Given the description of an element on the screen output the (x, y) to click on. 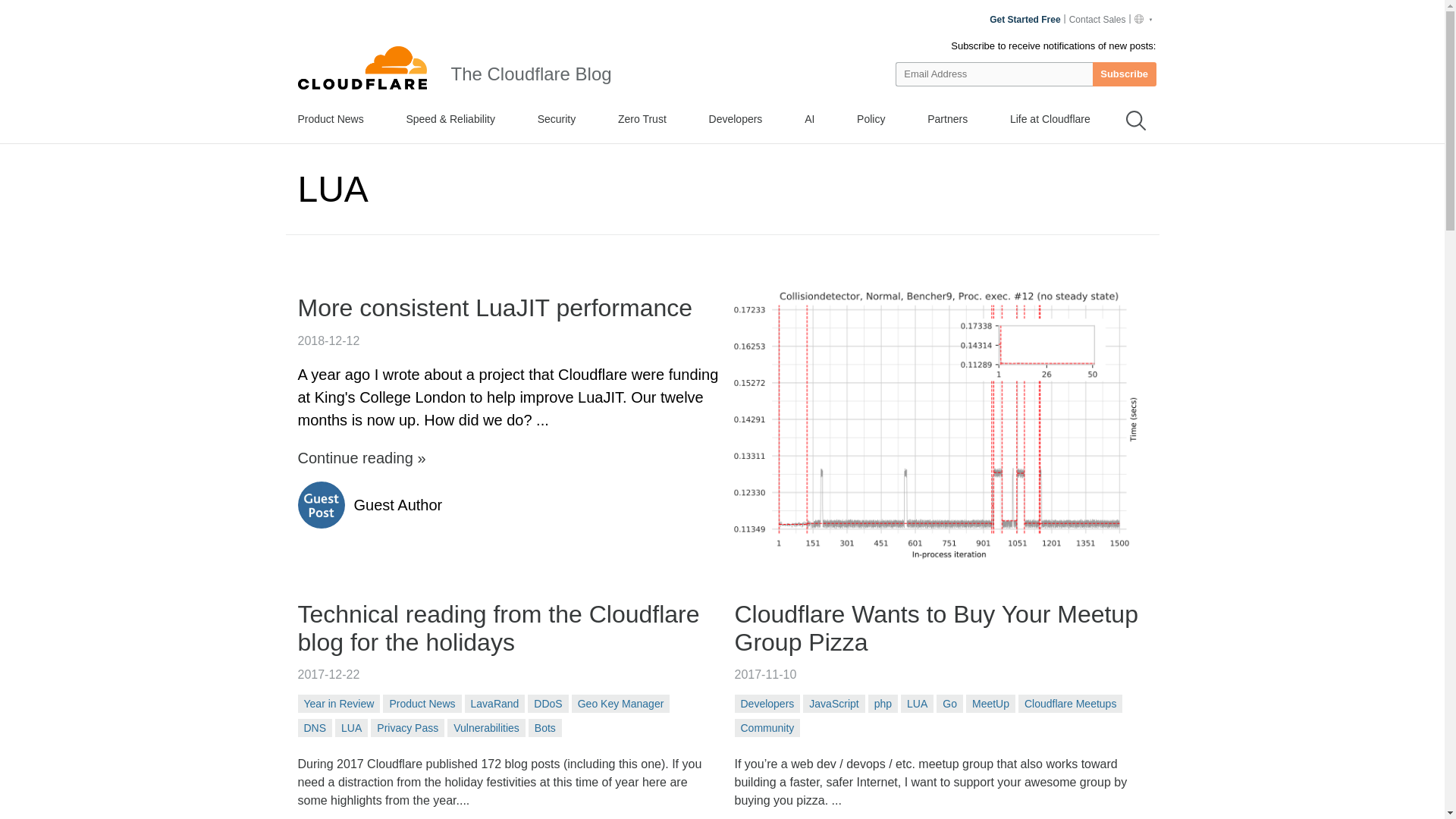
DDoS (547, 703)
Zero Trust (641, 118)
LavaRand (494, 703)
The Cloudflare Blog (530, 73)
Year in Review (338, 703)
Security (556, 118)
Developers (735, 118)
Partners (947, 118)
Get Started Free (1024, 19)
Contact Sales (1098, 19)
Subscribe (1124, 74)
More consistent LuaJIT performance (509, 308)
Guest Author (397, 504)
DNS (314, 728)
LUA (351, 728)
